Given the description of an element on the screen output the (x, y) to click on. 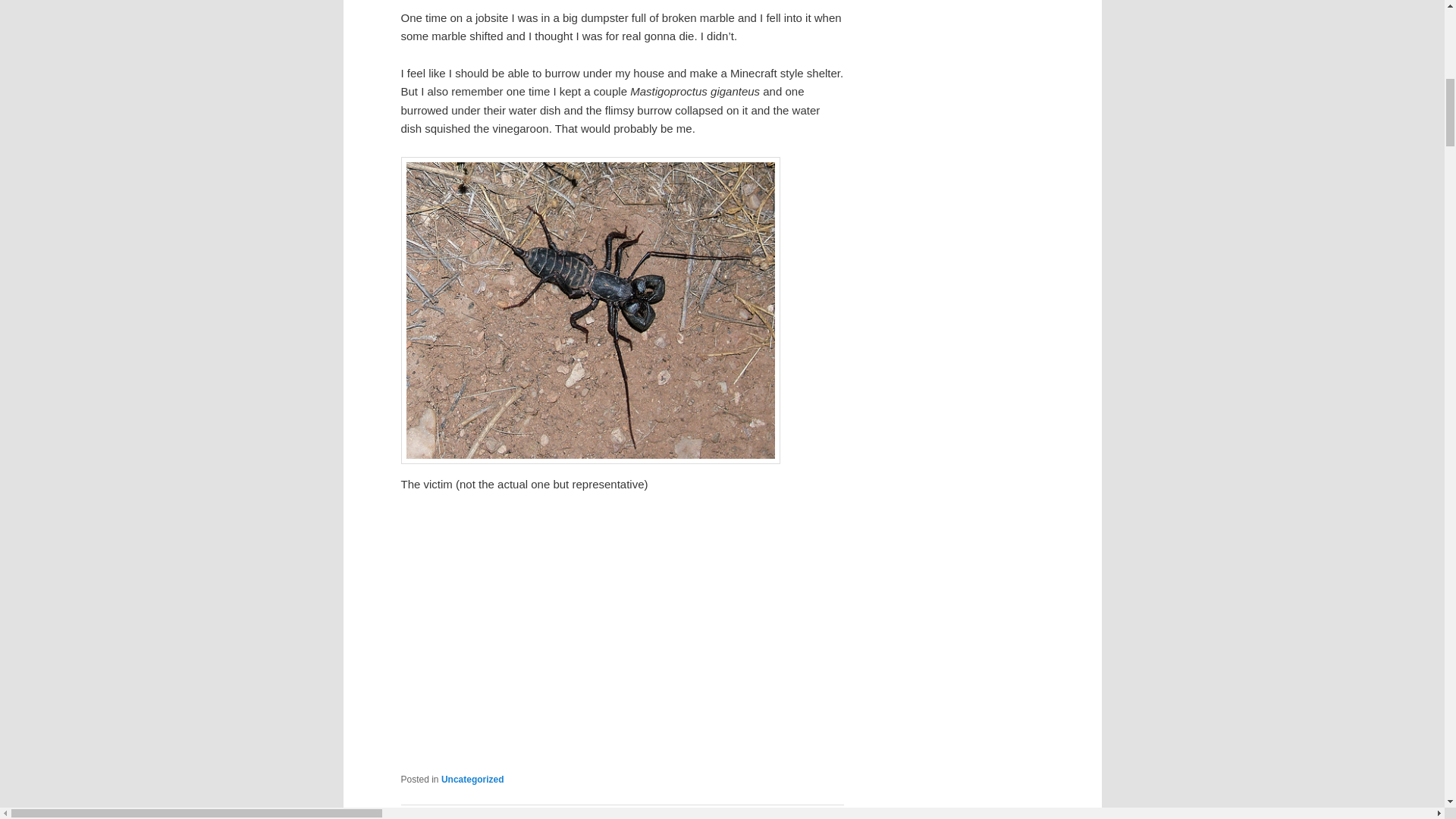
Creedle - Georgia X (621, 636)
Uncategorized (472, 778)
